Given the description of an element on the screen output the (x, y) to click on. 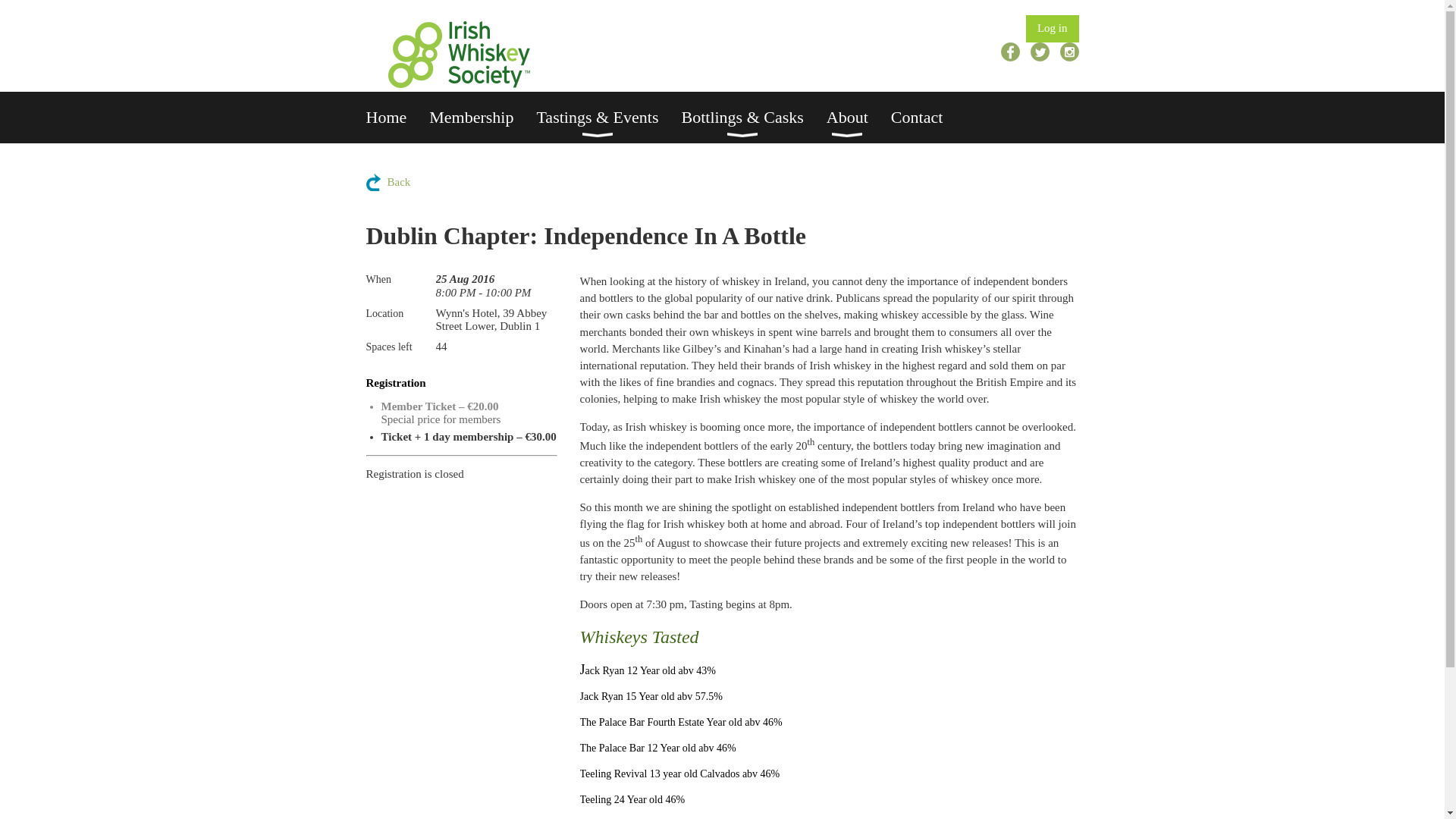
Log in (1052, 28)
Membership (482, 117)
Contact (928, 117)
Home (397, 117)
Facebook (1010, 51)
Back (387, 181)
Instagram (1068, 51)
Home (397, 117)
Membership (482, 117)
About (859, 117)
Twitter (1039, 51)
About (859, 117)
